Given the description of an element on the screen output the (x, y) to click on. 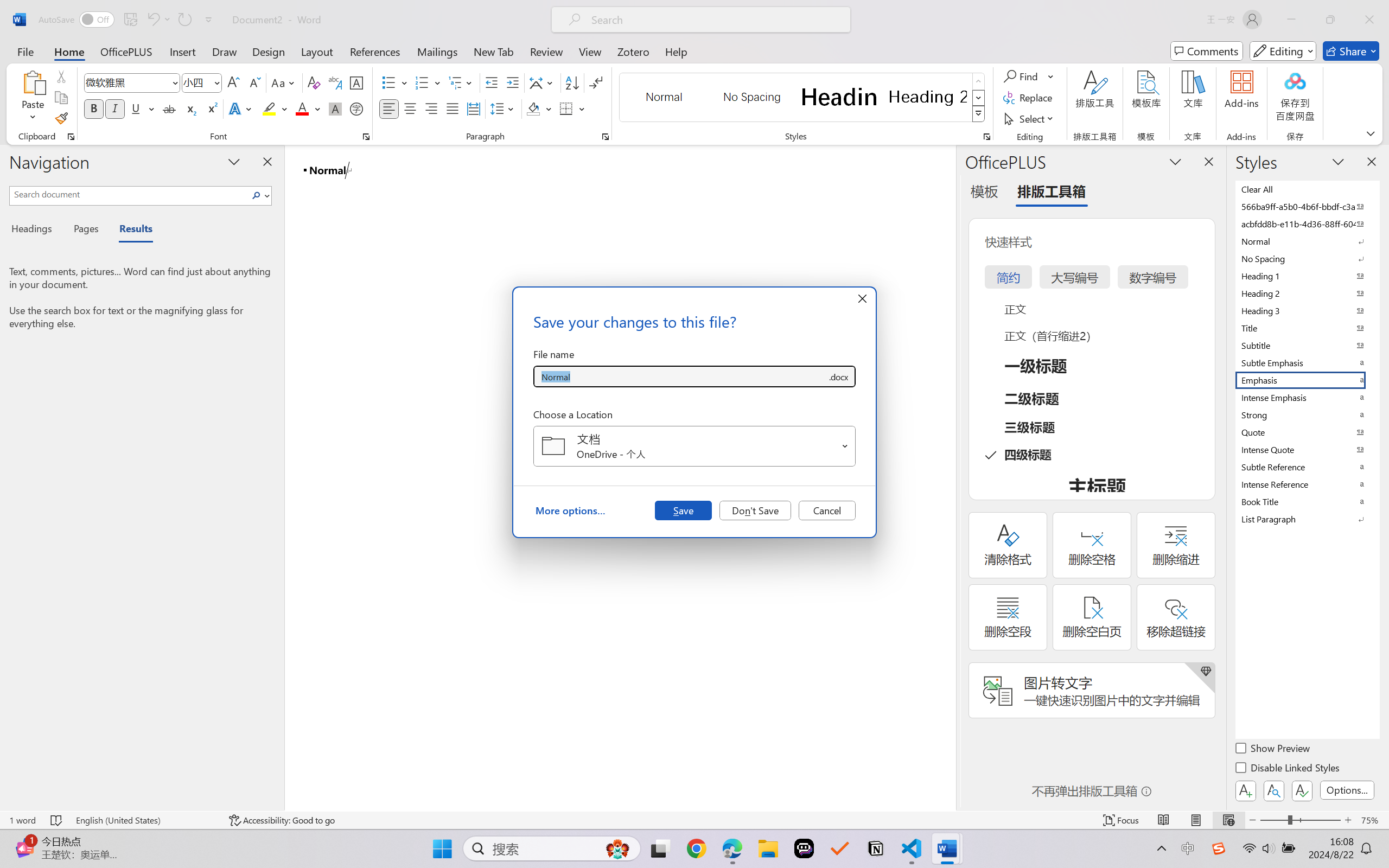
File name (680, 376)
Bold (94, 108)
Subtle Emphasis (1306, 362)
List Paragraph (1306, 518)
Cancel (826, 509)
Underline (135, 108)
AutomationID: QuickStylesGallery (802, 97)
No Spacing (1306, 258)
Subscript (190, 108)
View (589, 51)
Font Color Red (302, 108)
Design (268, 51)
Decrease Indent (491, 82)
